Given the description of an element on the screen output the (x, y) to click on. 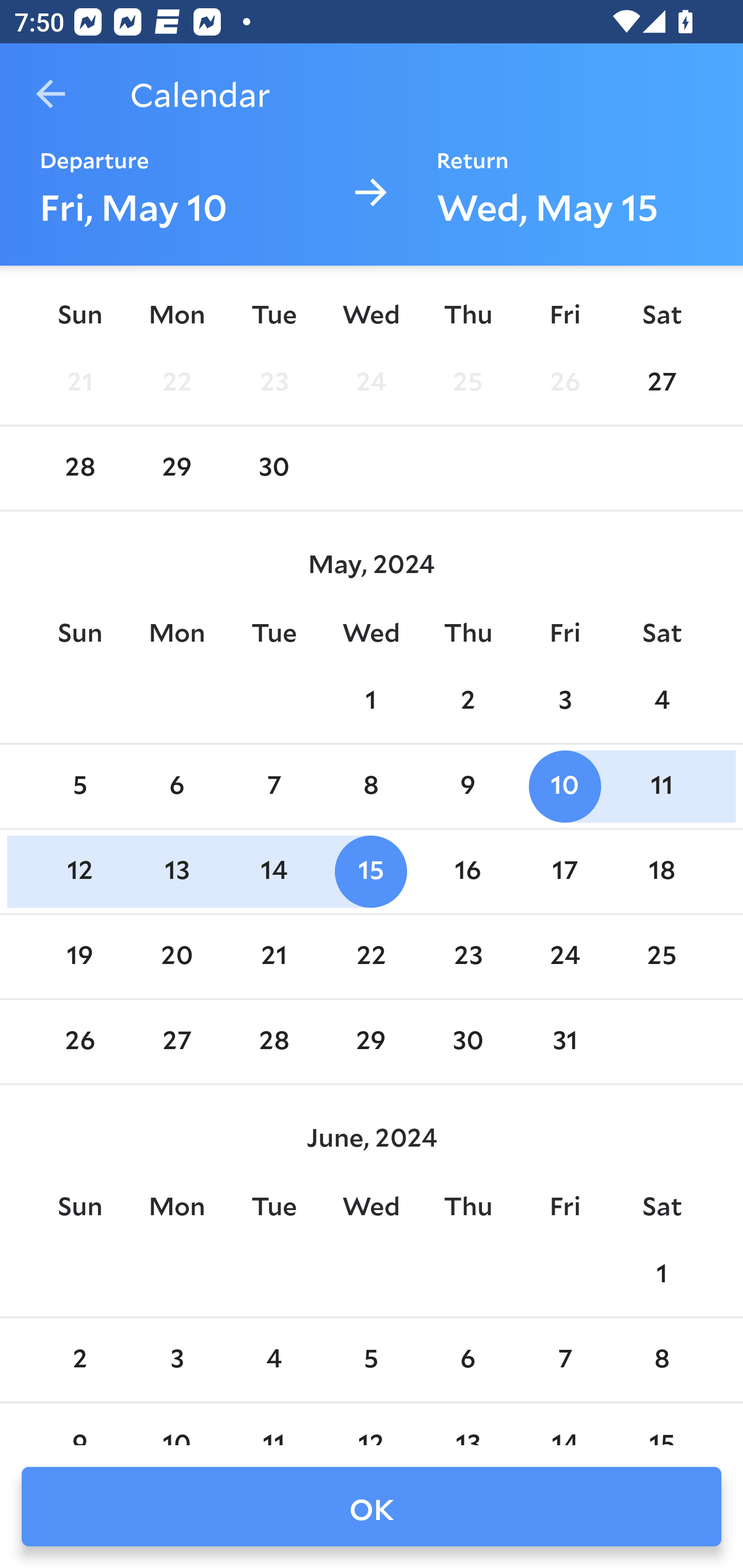
Navigate up (50, 93)
21 (79, 382)
22 (177, 382)
23 (273, 382)
24 (371, 382)
25 (467, 382)
26 (565, 382)
27 (661, 382)
28 (79, 468)
29 (177, 468)
30 (273, 468)
1 (371, 700)
2 (467, 700)
3 (565, 700)
4 (661, 700)
5 (79, 787)
6 (177, 787)
7 (273, 787)
8 (371, 787)
9 (467, 787)
10 (565, 787)
11 (661, 787)
12 (79, 871)
13 (177, 871)
14 (273, 871)
15 (371, 871)
16 (467, 871)
17 (565, 871)
18 (661, 871)
19 (79, 956)
20 (177, 956)
21 (273, 956)
22 (371, 956)
23 (467, 956)
24 (565, 956)
25 (661, 956)
26 (79, 1041)
27 (177, 1041)
28 (273, 1041)
29 (371, 1041)
30 (467, 1041)
31 (565, 1041)
1 (661, 1274)
2 (79, 1359)
3 (177, 1359)
4 (273, 1359)
5 (371, 1359)
6 (467, 1359)
7 (565, 1359)
8 (661, 1359)
